Given the description of an element on the screen output the (x, y) to click on. 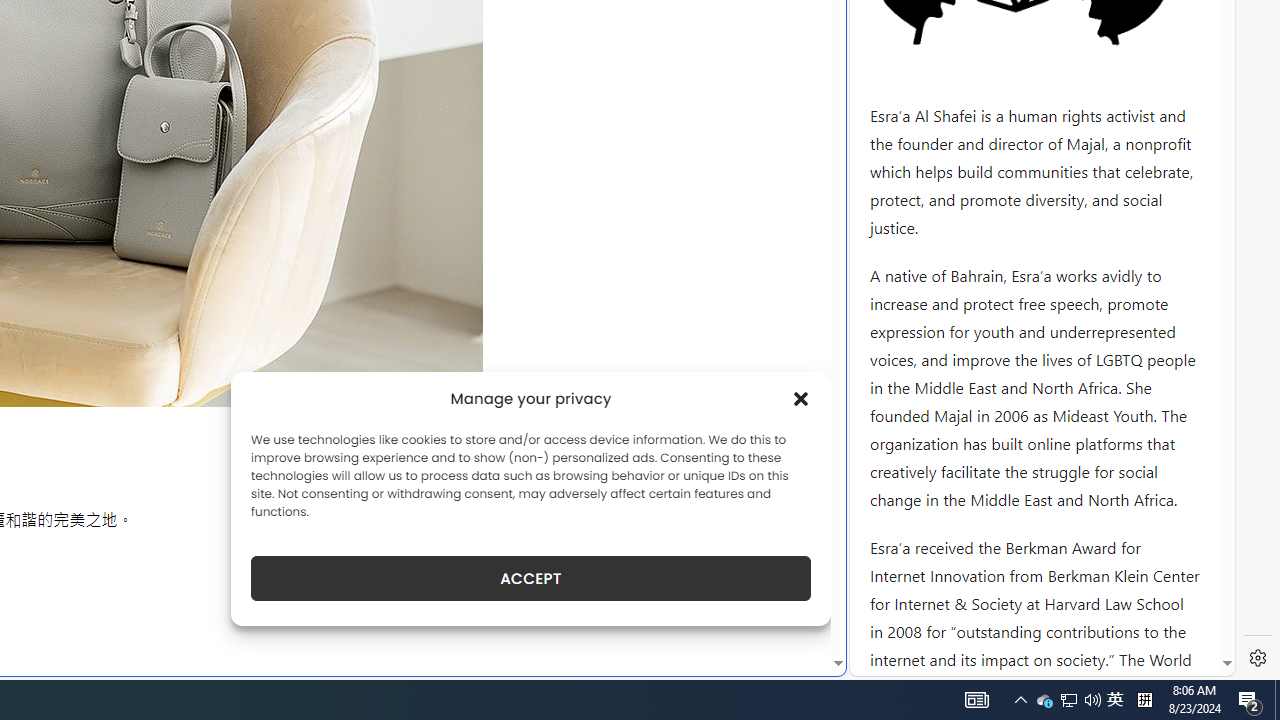
ACCEPT (530, 578)
